Given the description of an element on the screen output the (x, y) to click on. 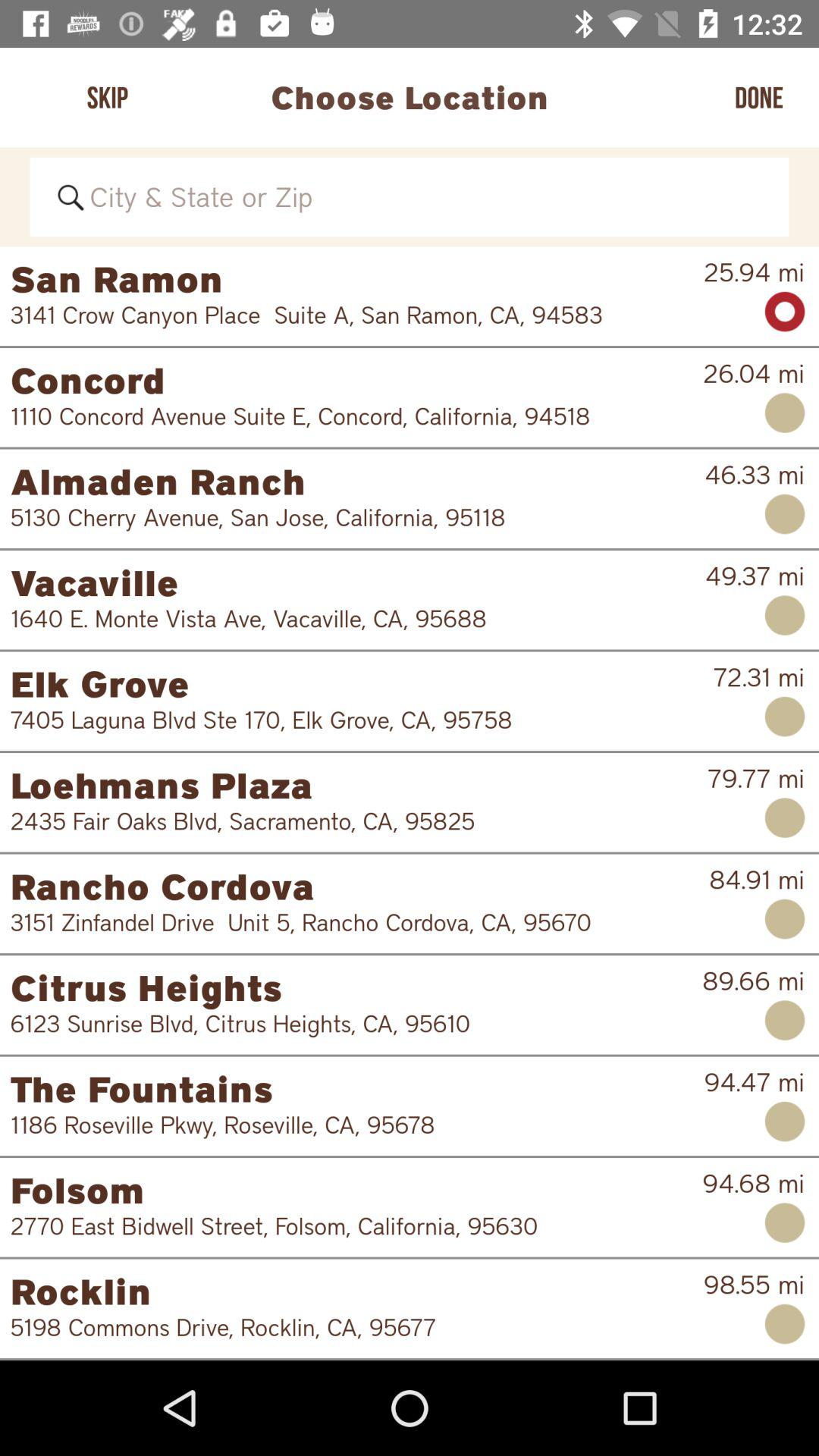
open item above the 2435 fair oaks icon (358, 785)
